Given the description of an element on the screen output the (x, y) to click on. 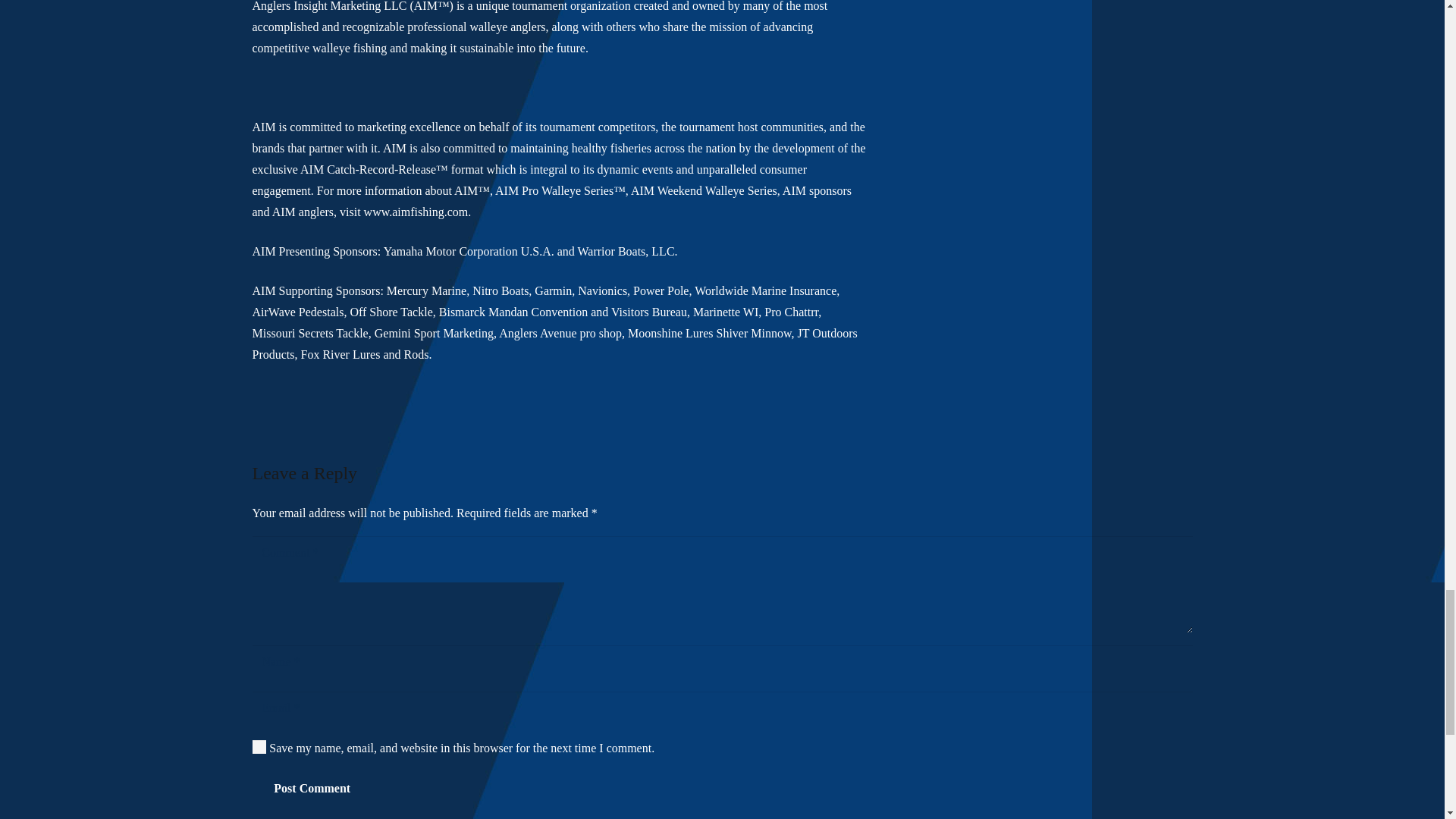
1 (258, 746)
Post Comment (311, 788)
www.aimfishing.com. (417, 211)
